Given the description of an element on the screen output the (x, y) to click on. 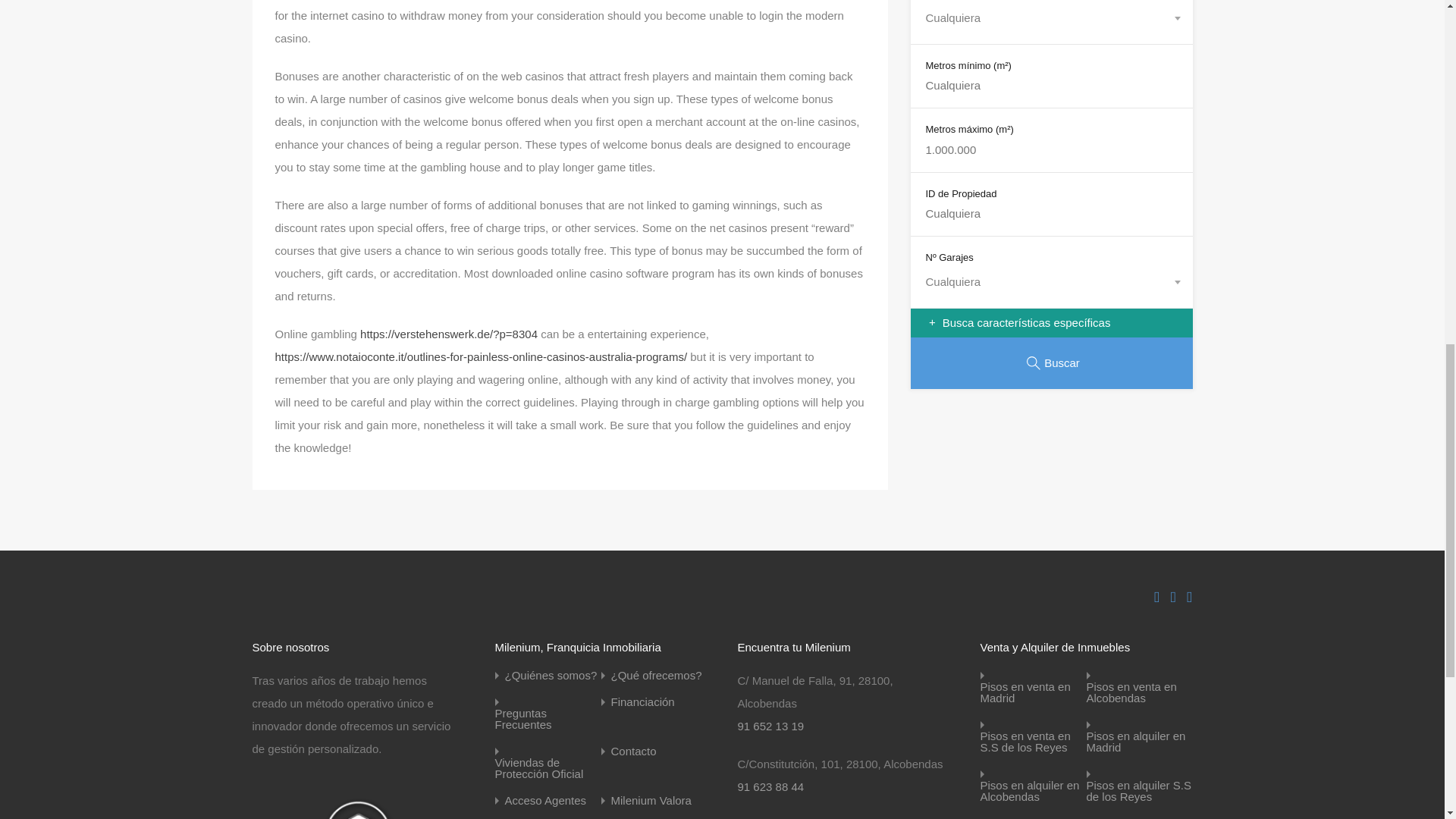
Cualquiera (1050, 281)
Cualquiera (1050, 17)
Buscar (1051, 363)
